Given the description of an element on the screen output the (x, y) to click on. 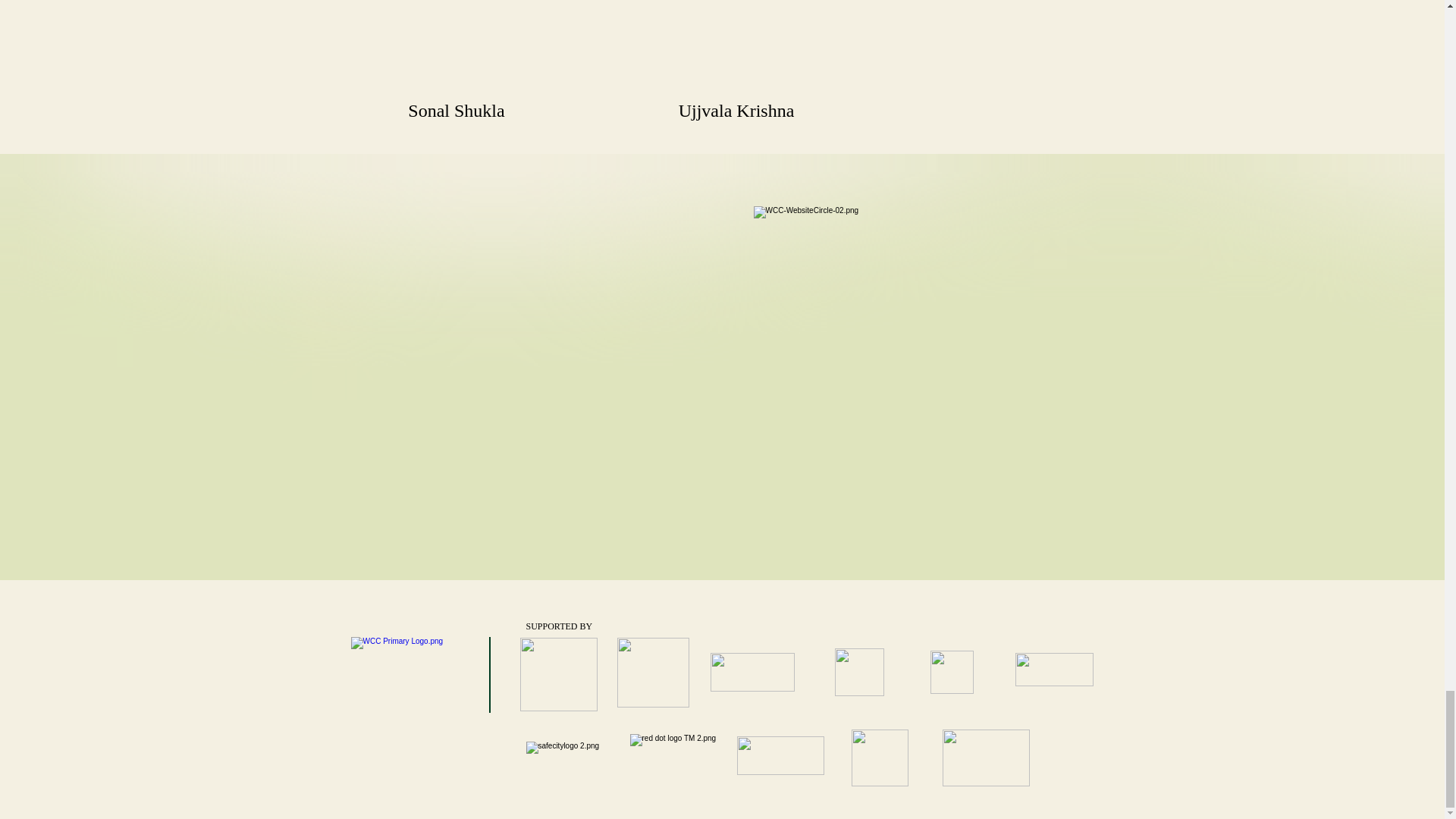
Sonal Shukla (457, 48)
Ujjvala Krishna (736, 48)
